Given the description of an element on the screen output the (x, y) to click on. 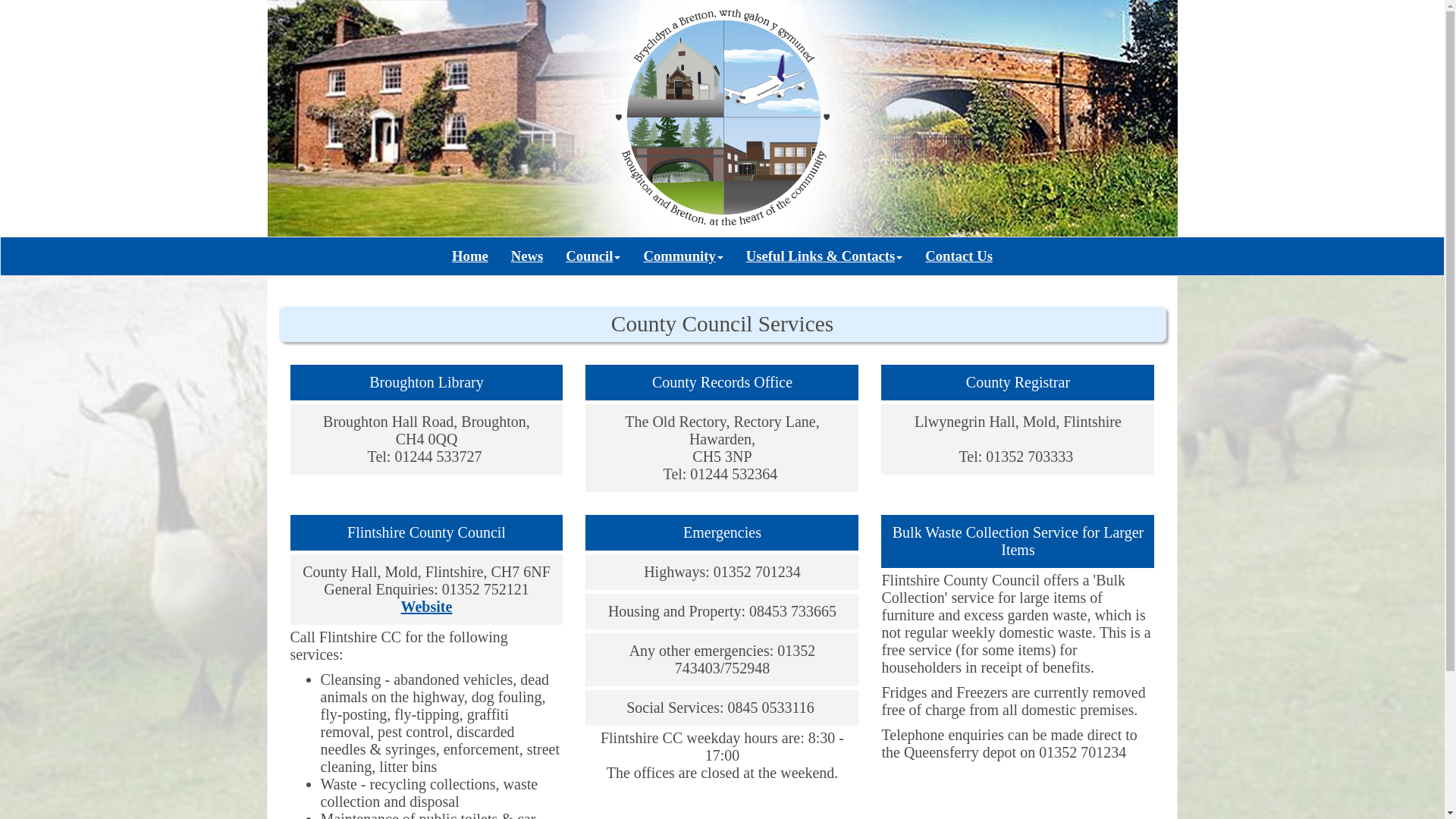
Website (426, 606)
Council (592, 256)
Home (470, 256)
News (526, 256)
Contact Us (959, 256)
Community (682, 256)
